Given the description of an element on the screen output the (x, y) to click on. 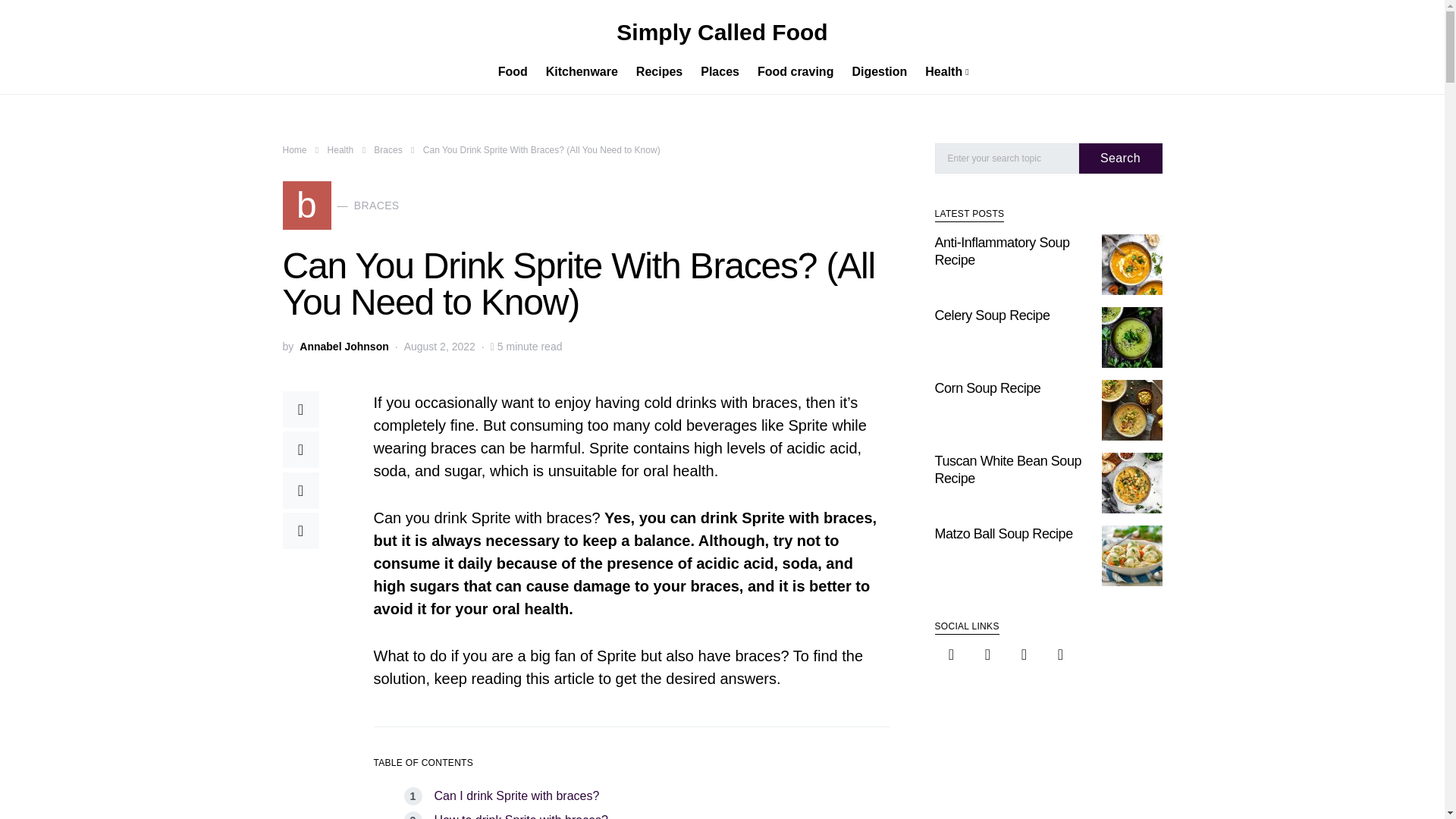
Kitchenware (582, 71)
Annabel Johnson (343, 346)
Digestion (879, 71)
Simply Called Food (721, 32)
Places (719, 71)
Home (293, 149)
View all posts by Annabel Johnson (343, 346)
Food craving (795, 71)
How to drink Sprite with braces? (520, 816)
Recipes (340, 205)
Can I drink Sprite with braces? (659, 71)
Health (515, 795)
Braces (941, 71)
Health (387, 149)
